Given the description of an element on the screen output the (x, y) to click on. 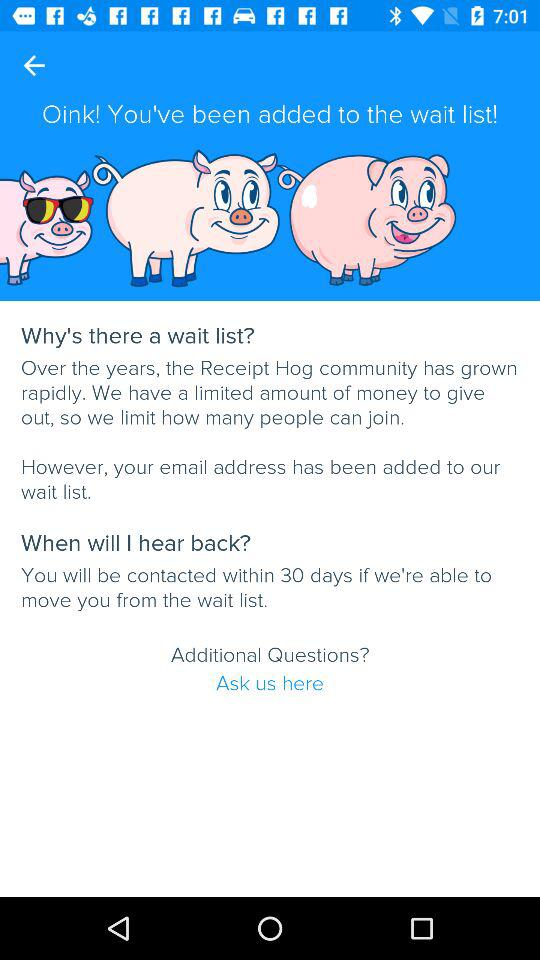
select ask us here item (269, 683)
